Given the description of an element on the screen output the (x, y) to click on. 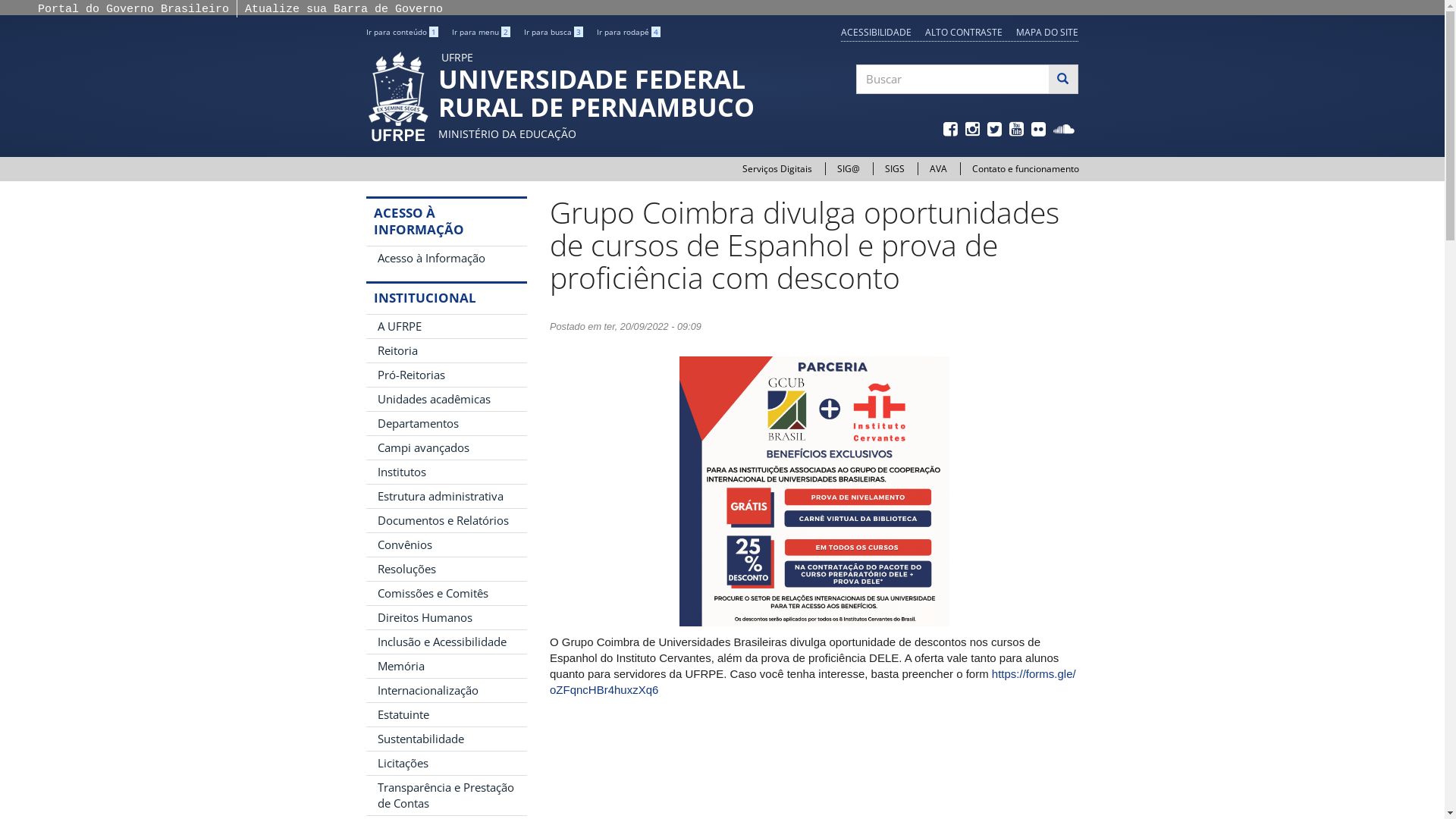
SIGS Element type: text (893, 168)
  Element type: text (1017, 130)
Buscar Element type: text (856, 108)
Ir para busca 3 Element type: text (552, 31)
Reitoria Element type: text (446, 350)
Estatuinte Element type: text (446, 714)
  Element type: text (1065, 130)
Institutos Element type: text (446, 471)
SIG@ Element type: text (848, 168)
Portal do Governo Brasileiro Element type: text (133, 9)
Direitos Humanos Element type: text (446, 617)
ACESSIBILIDADE Element type: text (875, 31)
  Element type: text (550, 187)
  Element type: text (951, 130)
https://forms.gle/oZFqncHBr4huxzXq6 Element type: text (812, 681)
Departamentos Element type: text (446, 423)
Ir para menu 2 Element type: text (480, 31)
Atualize sua Barra de Governo Element type: text (343, 9)
Contato e funcionamento Element type: text (1025, 168)
  Element type: text (995, 130)
Sustentabilidade Element type: text (446, 738)
A UFRPE Element type: text (446, 326)
  Element type: text (1039, 130)
AVA Element type: text (938, 168)
MAPA DO SITE Element type: text (1047, 31)
Estrutura administrativa Element type: text (446, 496)
ALTO CONTRASTE Element type: text (963, 31)
  Element type: text (973, 130)
